Given the description of an element on the screen output the (x, y) to click on. 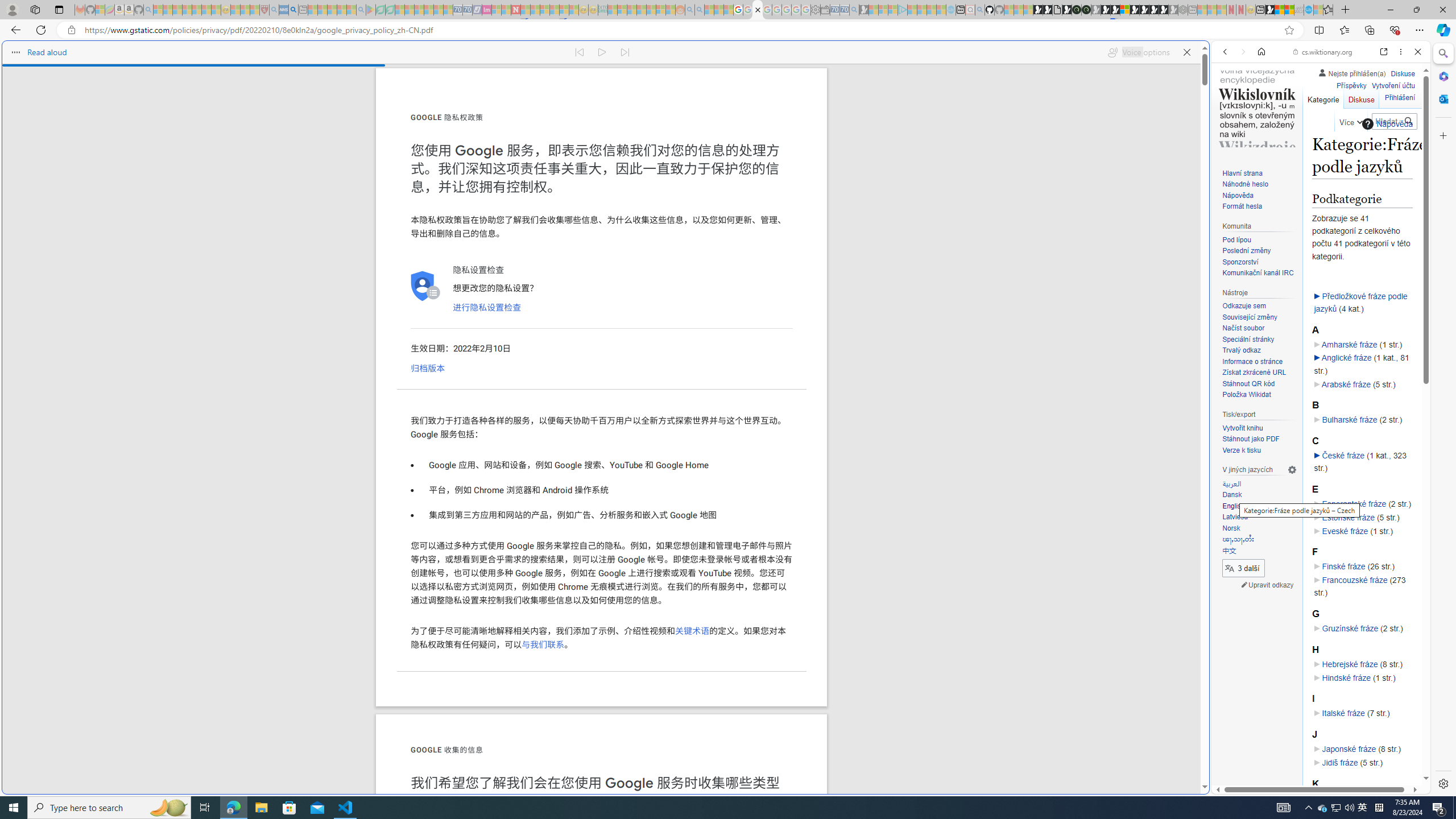
google_privacy_policy_zh-CN.pdf (1118, 683)
Terms of Use Agreement - Sleeping (380, 9)
Global web icon (1232, 786)
Odkazuje sem (1259, 306)
Search Filter, WEB (1230, 129)
Microsoft-Report a Concern to Bing - Sleeping (99, 9)
